Given the description of an element on the screen output the (x, y) to click on. 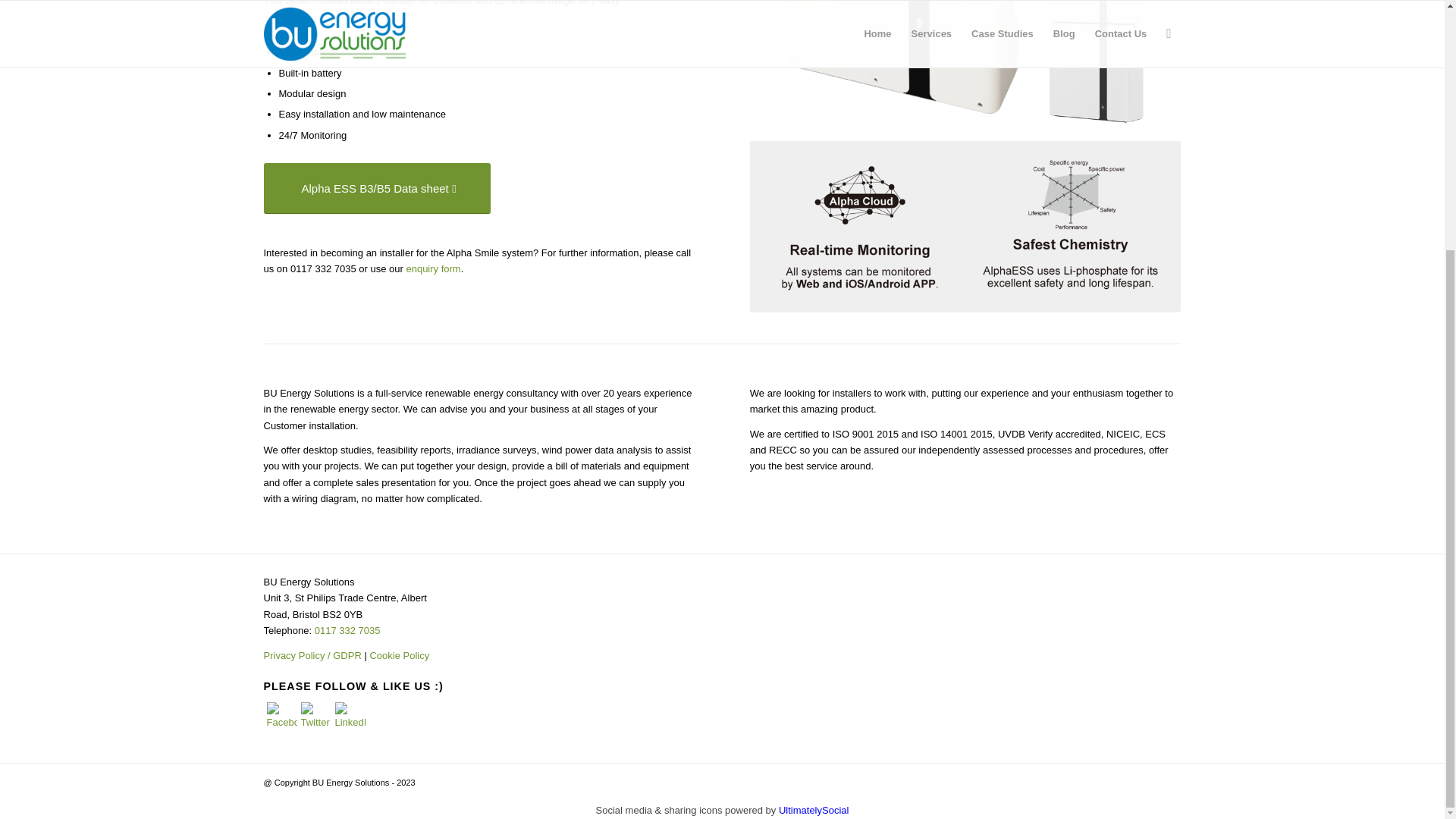
LinkedIn (349, 716)
Twitter (314, 716)
Cookie Policy (399, 655)
UltimatelySocial (813, 809)
Facebook (281, 716)
enquiry form (433, 268)
0117 332 7035 (347, 630)
